Given the description of an element on the screen output the (x, y) to click on. 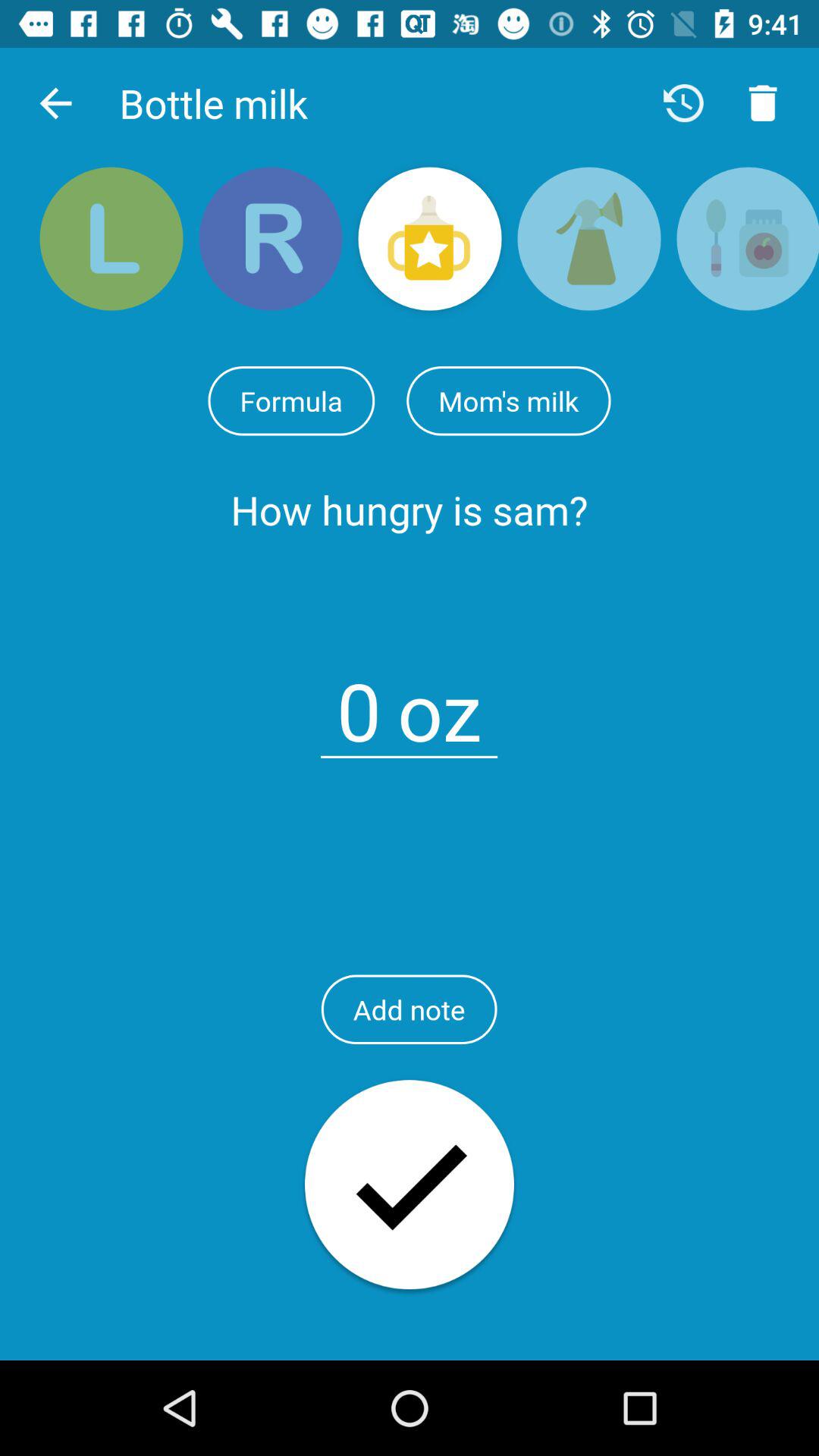
launch formula item (291, 400)
